Given the description of an element on the screen output the (x, y) to click on. 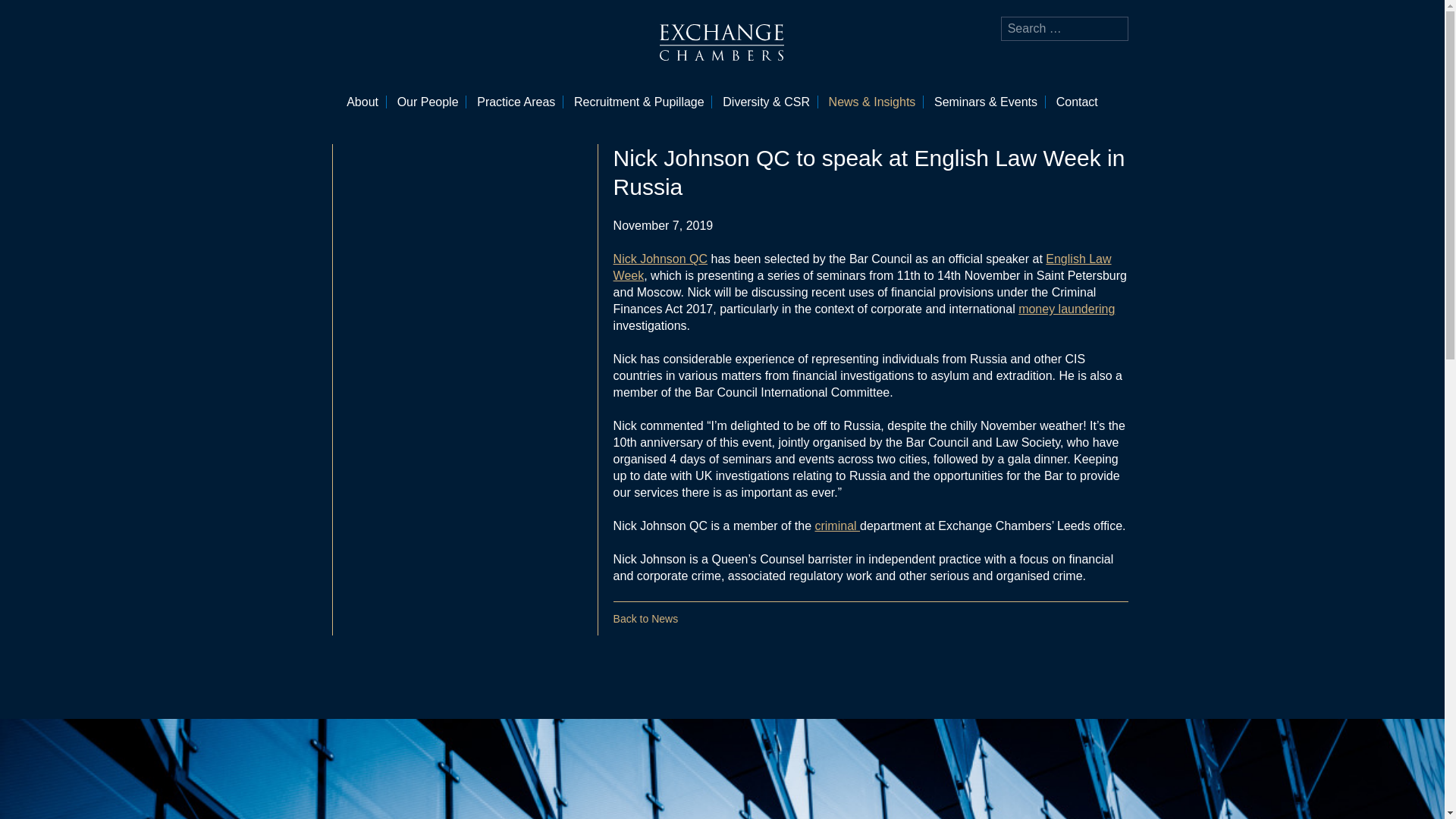
English Law Week (862, 266)
About (362, 101)
criminal (836, 525)
money laundering (1066, 308)
Back to News (645, 618)
Practice Areas (515, 101)
Our People (427, 101)
Exchange Chambers (721, 42)
Nick Johnson QC (659, 258)
Search for: (1064, 28)
Contact (1077, 101)
